Given the description of an element on the screen output the (x, y) to click on. 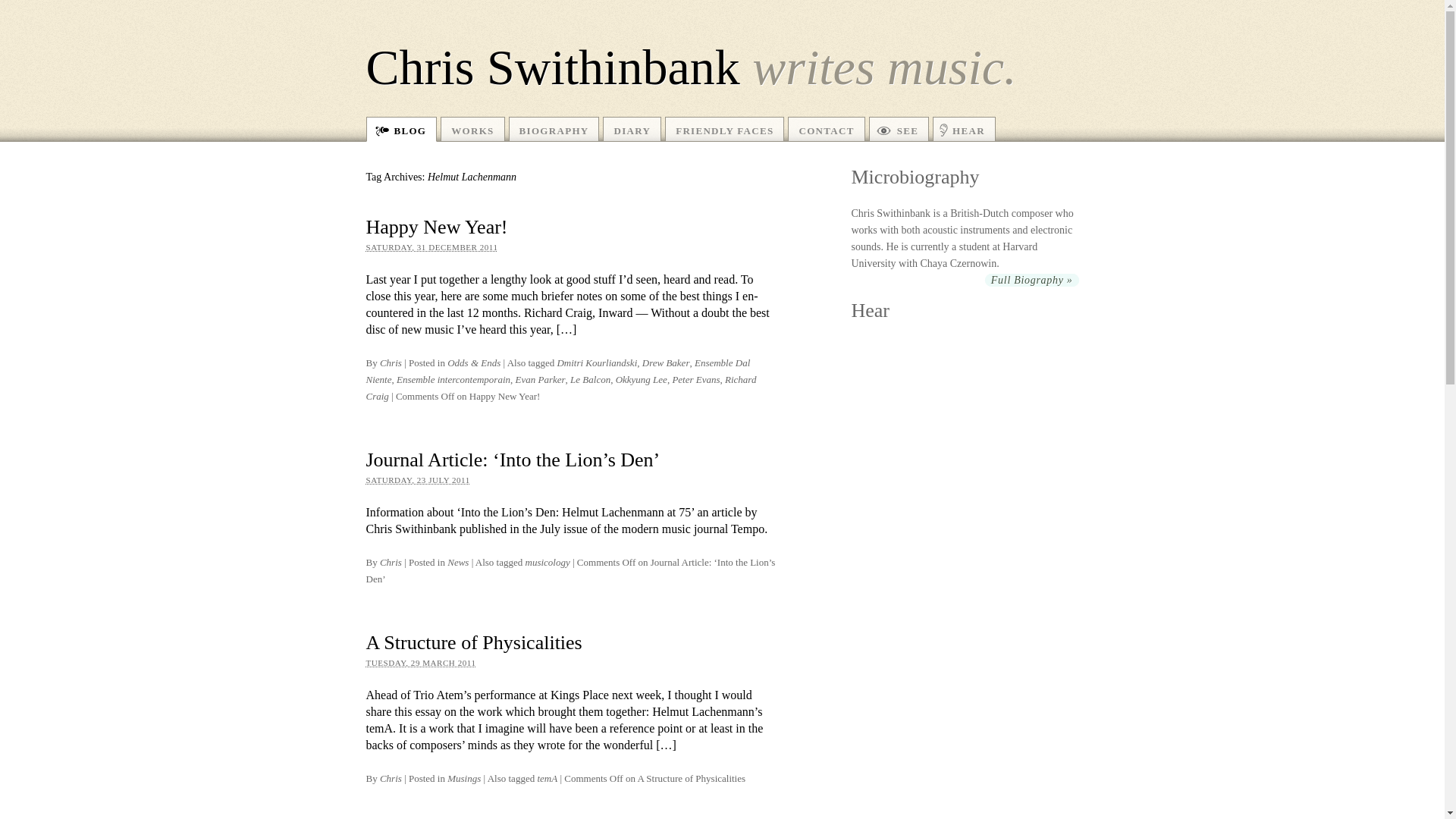
Permalink to A Structure of Physicalities (472, 642)
BLOG (400, 129)
Richard Craig (560, 387)
WORKS (472, 129)
Chris Swithinbank (552, 67)
Okkyung Lee (640, 378)
Dmitri Kourliandski (596, 362)
FRIENDLY FACES (724, 129)
Ensemble Dal Niente (557, 370)
News (457, 562)
temA (547, 778)
Evan Parker (540, 378)
View all posts by Chris (390, 778)
Musings (463, 778)
Chris (390, 562)
